Given the description of an element on the screen output the (x, y) to click on. 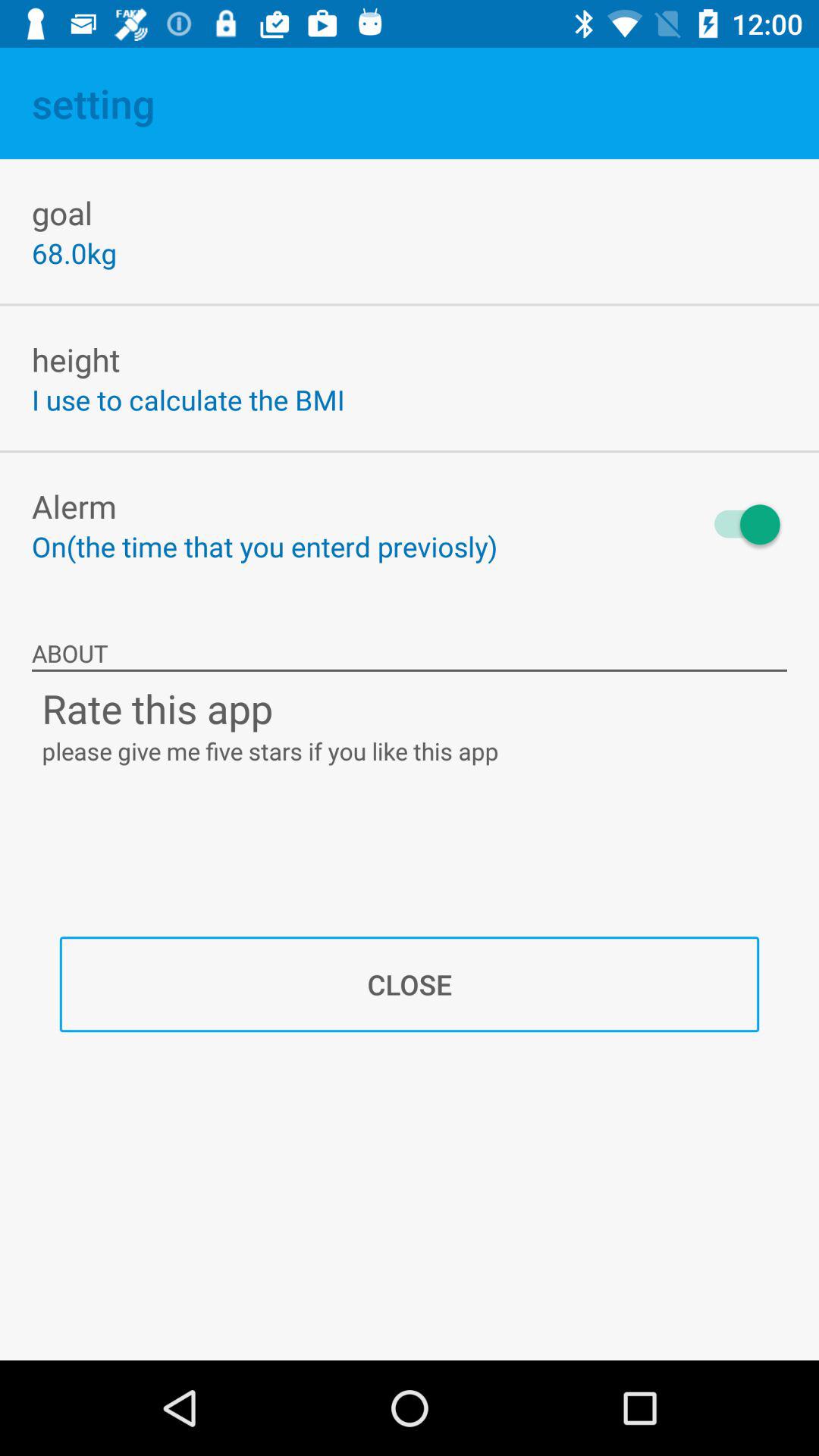
choose item above the on the time (73, 505)
